Given the description of an element on the screen output the (x, y) to click on. 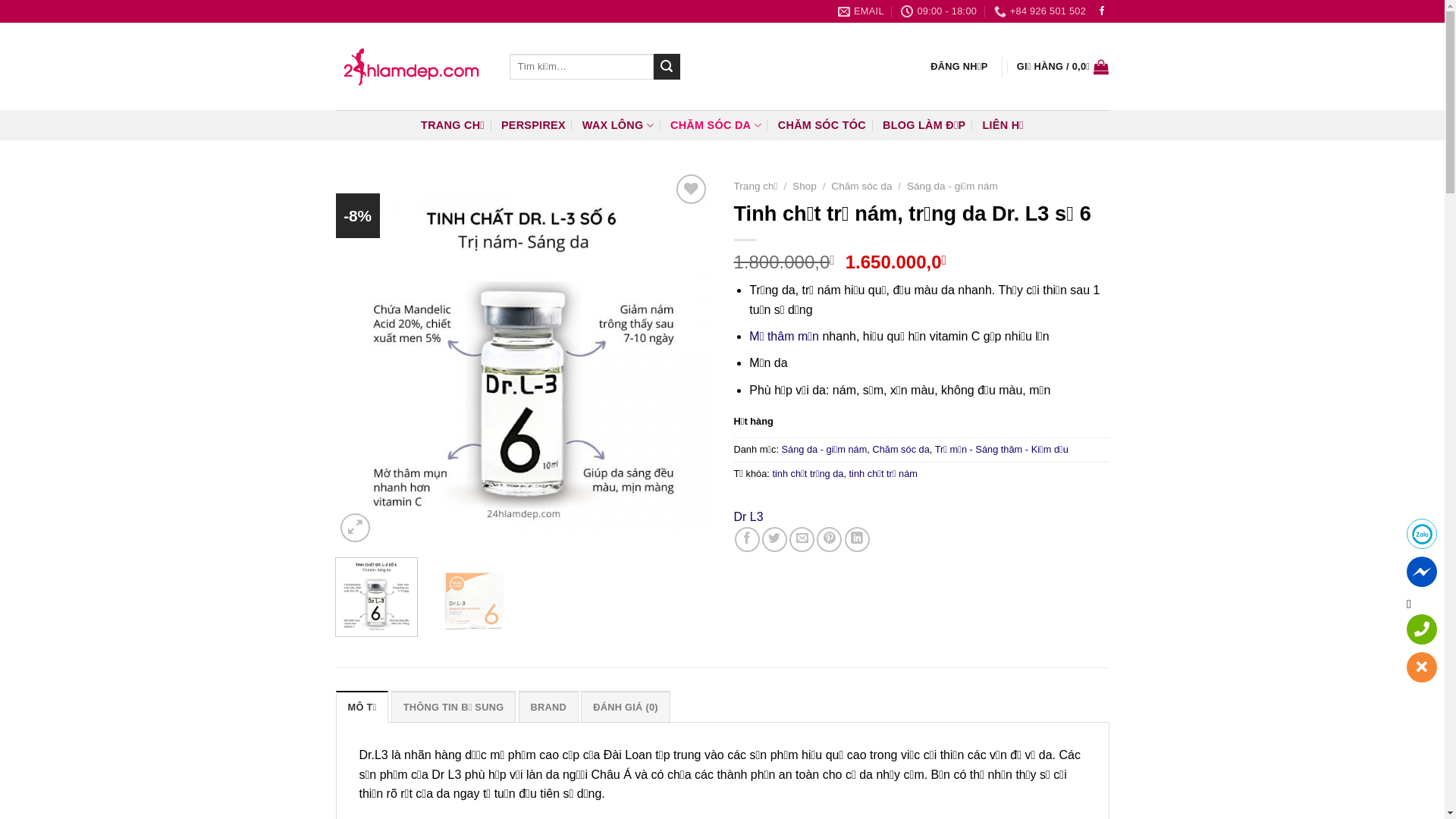
PERSPIREX Element type: text (533, 124)
EMAIL Element type: text (860, 11)
Share on LinkedIn Element type: hover (856, 539)
Zoom Element type: hover (355, 527)
Share on Twitter Element type: hover (774, 539)
Pin on Pinterest Element type: hover (828, 539)
Email to a Friend Element type: hover (801, 539)
Dr L3 Element type: text (748, 517)
Follow on Facebook Element type: hover (1101, 11)
09:00 - 18:00 Element type: text (938, 11)
Shop Element type: text (804, 185)
+84 926 501 502 Element type: text (1040, 11)
Share on Facebook Element type: hover (746, 539)
BRAND Element type: text (548, 706)
